Given the description of an element on the screen output the (x, y) to click on. 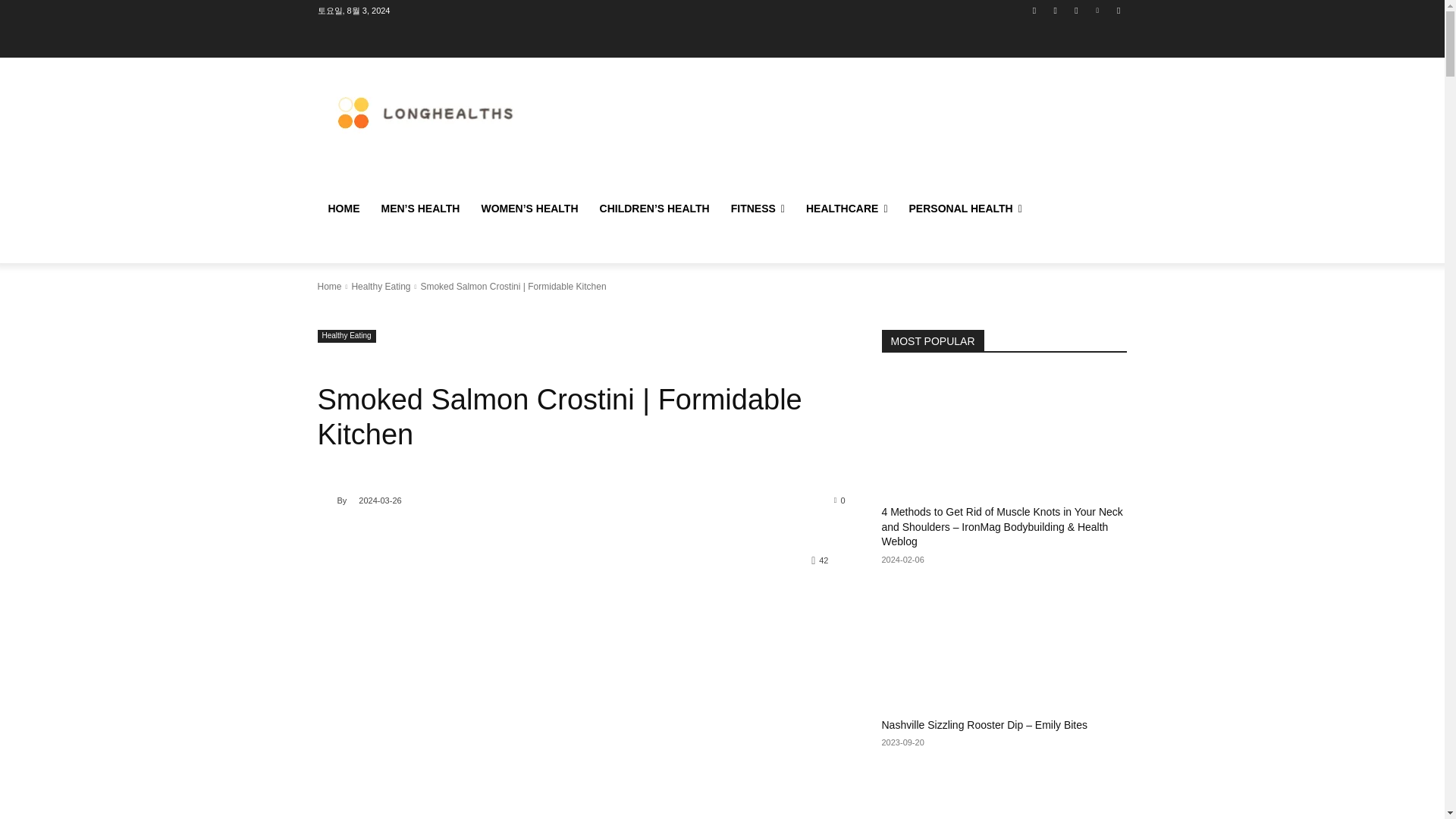
Vimeo (1097, 9)
HOME (343, 208)
Instagram (1055, 9)
Twitter (1075, 9)
FITNESS (757, 208)
Facebook (1034, 9)
View all posts in Healthy Eating (380, 286)
Youtube (1117, 9)
